Given the description of an element on the screen output the (x, y) to click on. 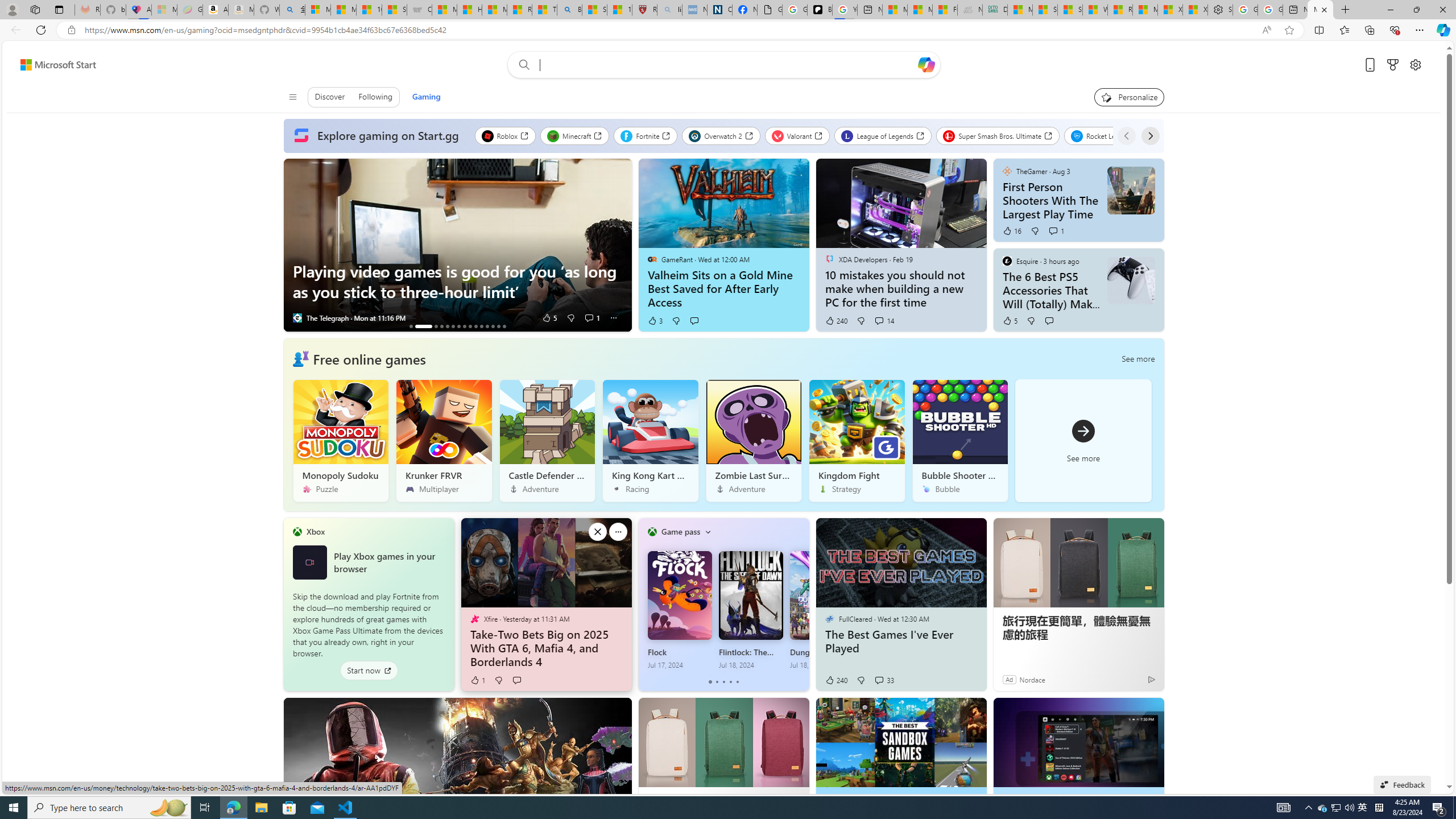
list of asthma inhalers uk - Search - Sleeping (669, 9)
AutomationID: tab_nativead-infopane-11 (481, 326)
Skip to content (53, 64)
View comments 33 Comment (883, 680)
Personalize your feed" (1129, 97)
Workspaces (34, 9)
Microsoft rewards (1392, 64)
How to Play DOS Games on Your iPad (492, 326)
Open Copilot (925, 64)
Open settings (1414, 64)
Ad Choice (1150, 679)
